Given the description of an element on the screen output the (x, y) to click on. 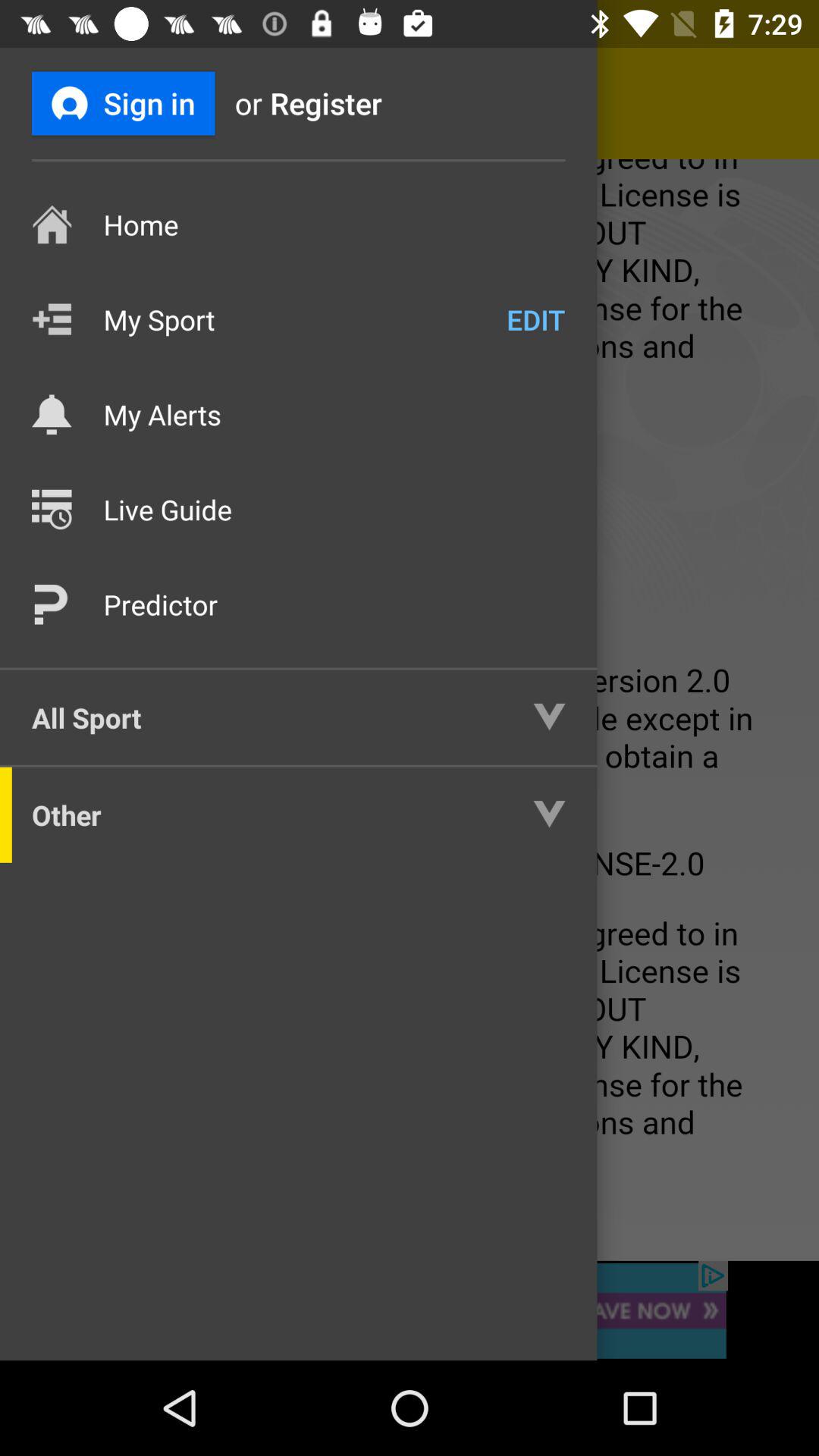
click on register (351, 103)
click on the icon left to home (51, 224)
click on the dropdown icon right next to other (533, 814)
click on the icon right next to predictor (51, 604)
click on the button which is next to the all sport (533, 717)
select the icon which is left side of the my alerts (51, 413)
